Given the description of an element on the screen output the (x, y) to click on. 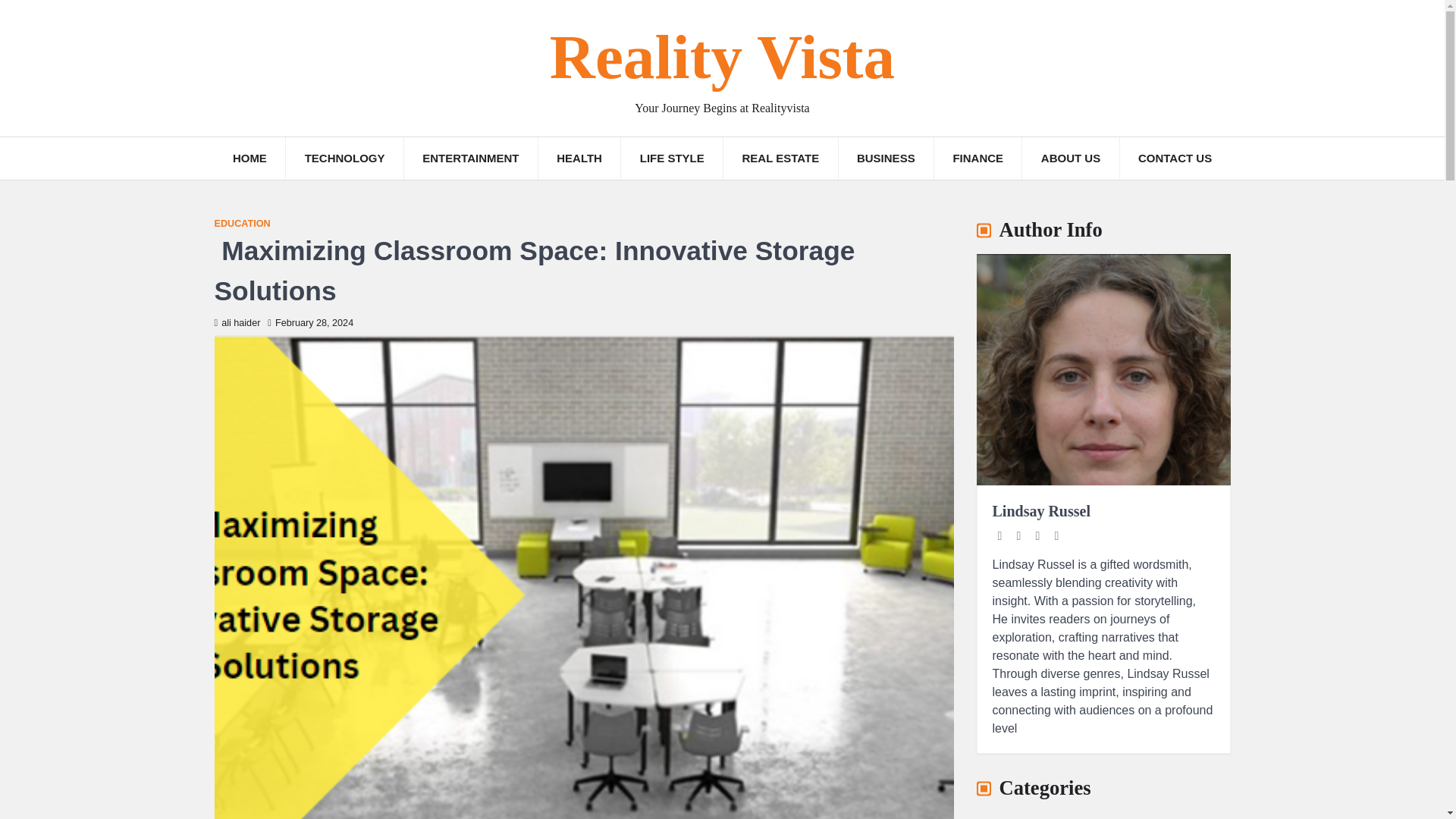
TECHNOLOGY (344, 158)
EDUCATION (241, 224)
FINANCE (978, 158)
BUSINESS (885, 158)
CONTACT US (1174, 158)
LIFE STYLE (671, 158)
ABOUT US (1070, 158)
HOME (249, 158)
ENTERTAINMENT (470, 158)
February 28, 2024 (310, 322)
HEALTH (579, 158)
ali haider (237, 322)
REAL ESTATE (780, 158)
Reality Vista (722, 57)
